Given the description of an element on the screen output the (x, y) to click on. 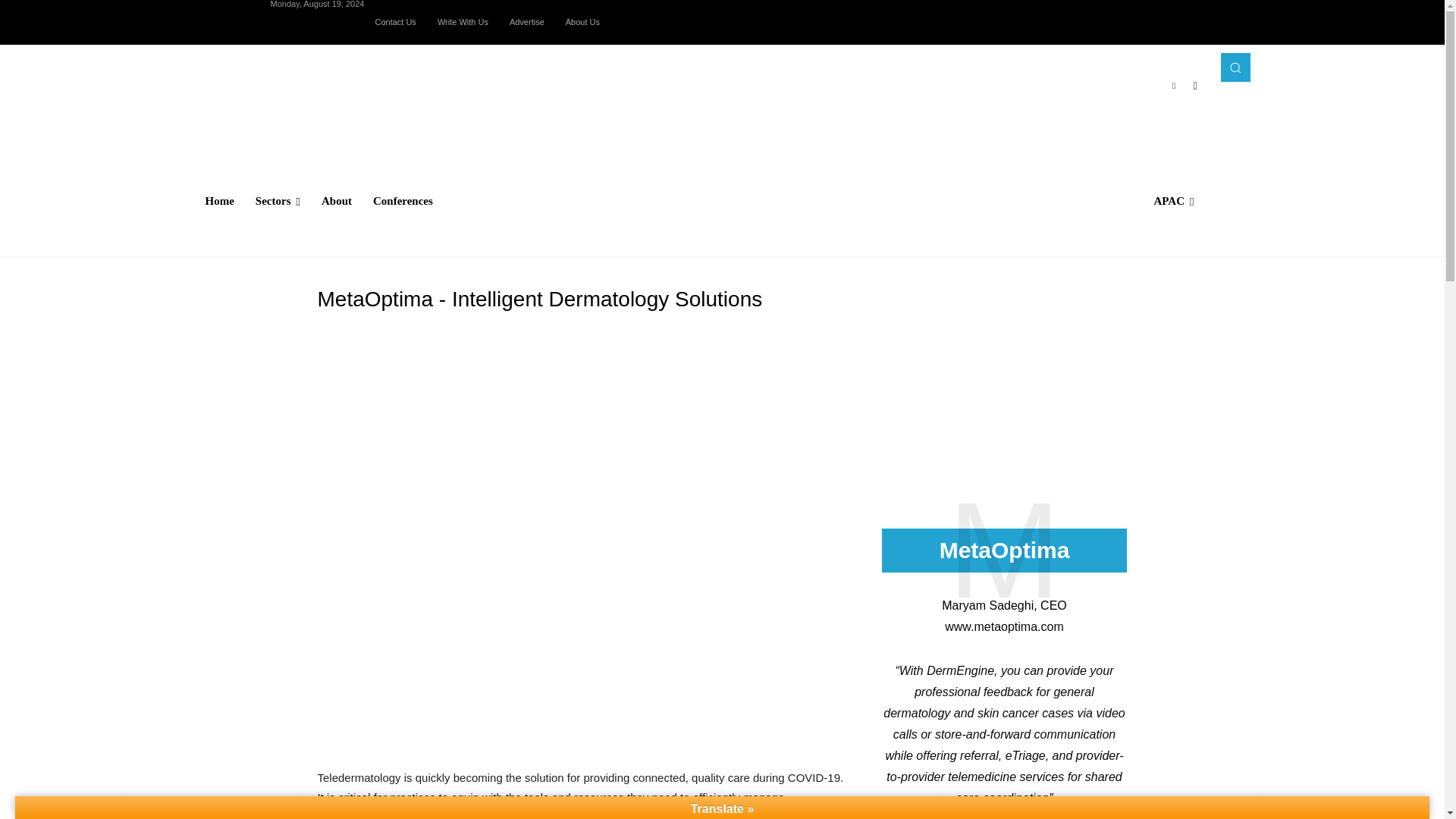
Sectors (277, 200)
Twitter (1195, 85)
About Us (582, 22)
Advertise (526, 22)
Linkedin (1174, 85)
Write With Us (462, 22)
APAC (1173, 200)
Conferences (403, 200)
Contact Us (395, 22)
About (336, 200)
